Given the description of an element on the screen output the (x, y) to click on. 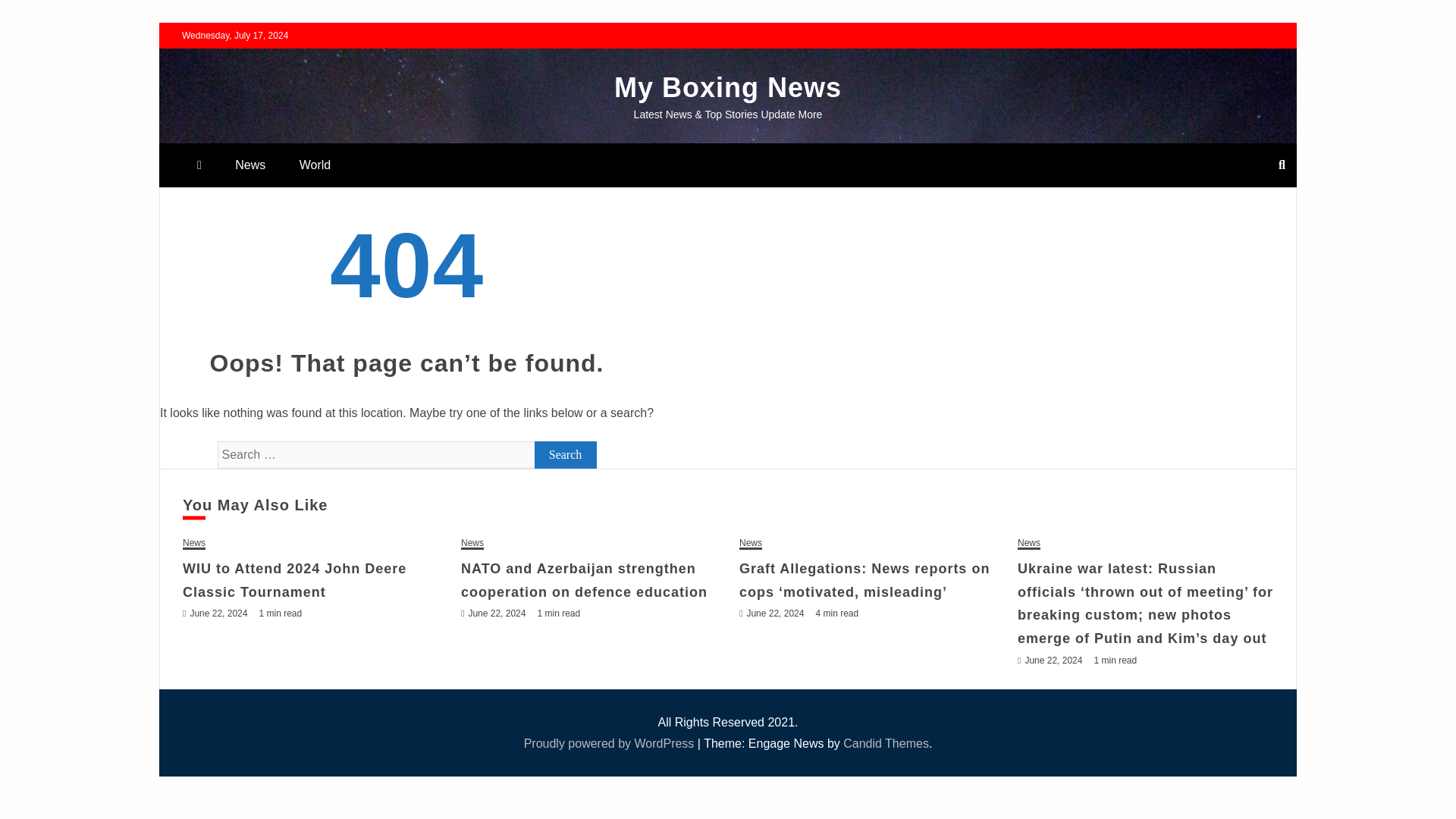
News (472, 543)
News (1029, 543)
Search (565, 454)
June 22, 2024 (1053, 660)
June 22, 2024 (496, 613)
June 22, 2024 (774, 613)
Search (565, 454)
WIU to Attend 2024 John Deere Classic Tournament (294, 580)
News (750, 543)
June 22, 2024 (218, 613)
Search (31, 13)
Candid Themes (885, 743)
My Boxing News (727, 87)
